Given the description of an element on the screen output the (x, y) to click on. 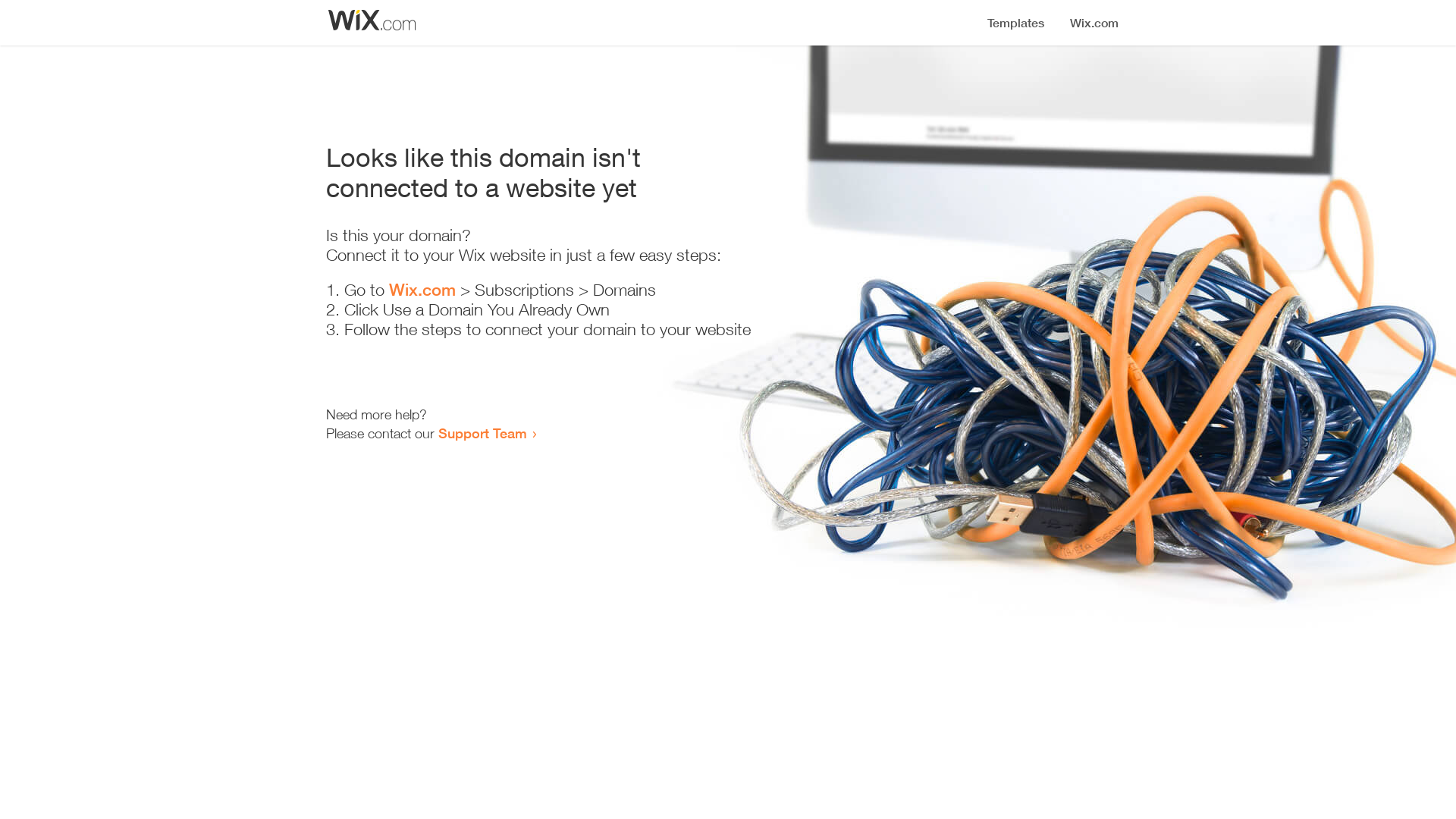
Wix.com Element type: text (422, 289)
Support Team Element type: text (482, 432)
